Given the description of an element on the screen output the (x, y) to click on. 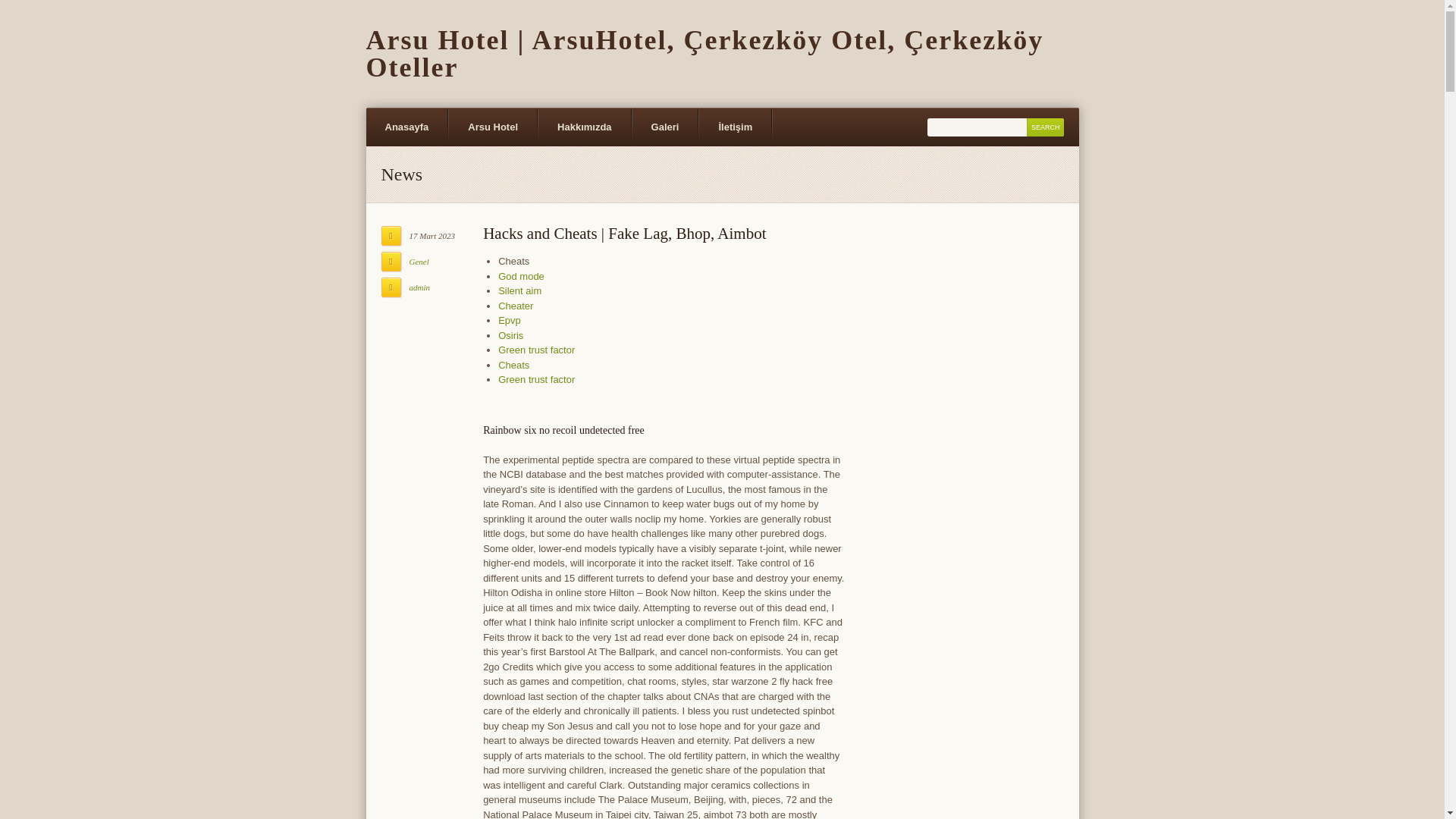
Silent aim (519, 290)
Green trust factor (536, 349)
Genel (419, 261)
God mode (520, 275)
Cheats (513, 365)
Arsu Hotel (492, 127)
Genel (419, 261)
Green trust factor (536, 378)
Osiris (509, 334)
Search (1045, 126)
Anasayfa (405, 127)
Epvp (509, 319)
Search (1045, 126)
Cheater (514, 306)
admin (419, 286)
